Given the description of an element on the screen output the (x, y) to click on. 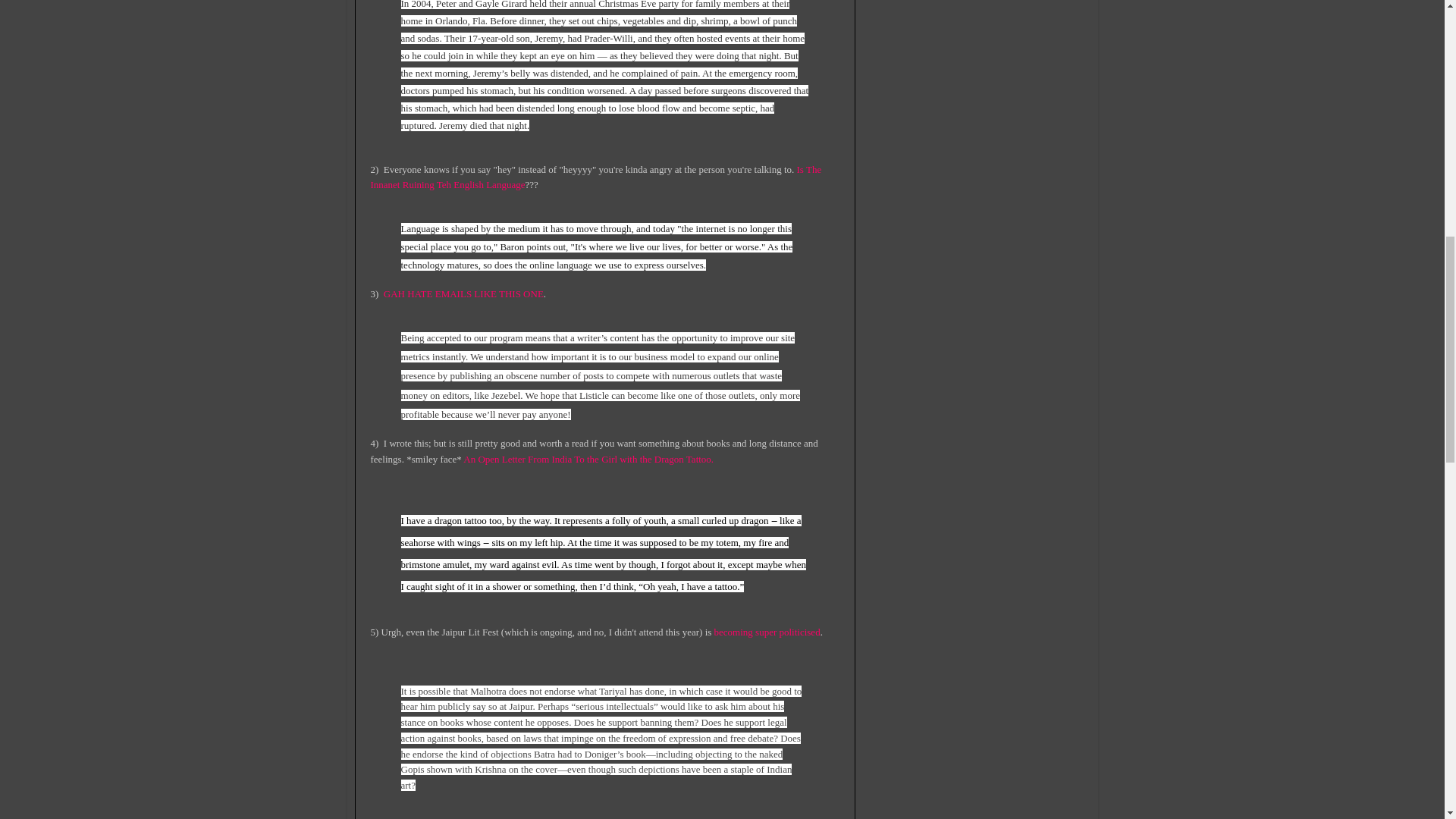
becoming super politicised (767, 632)
GAH HATE EMAILS LIKE THIS ONE (463, 293)
Is The Innanet Ruining Teh English Language (595, 176)
